Given the description of an element on the screen output the (x, y) to click on. 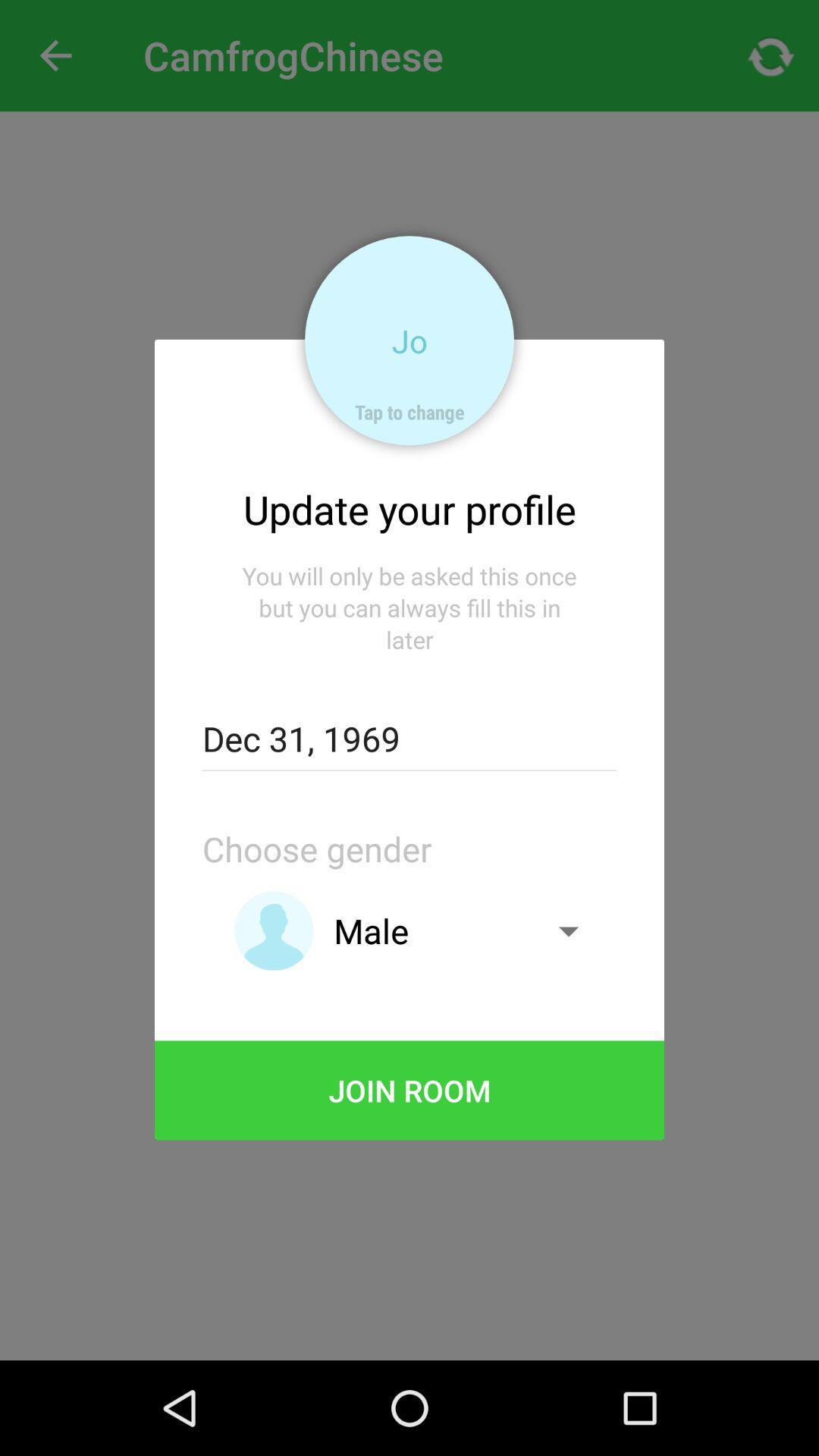
click the join room at the bottom (409, 1090)
